Given the description of an element on the screen output the (x, y) to click on. 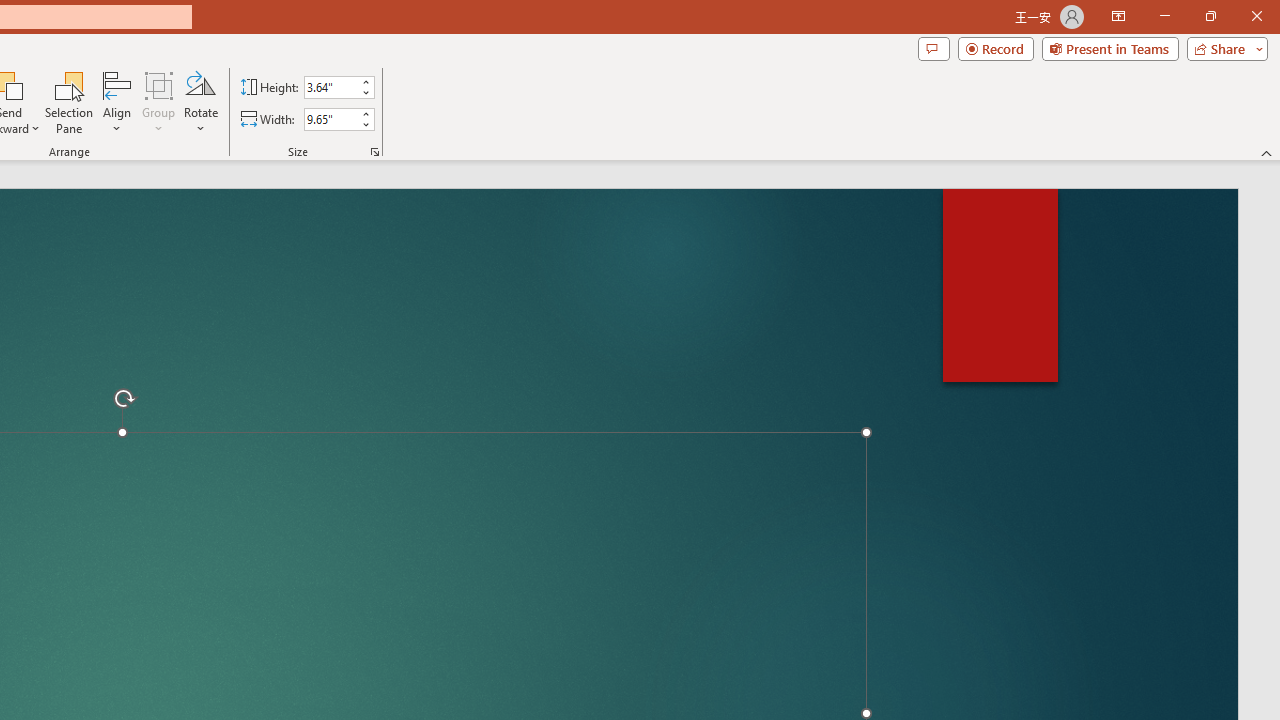
Shape Width (330, 119)
Align (117, 102)
